Given the description of an element on the screen output the (x, y) to click on. 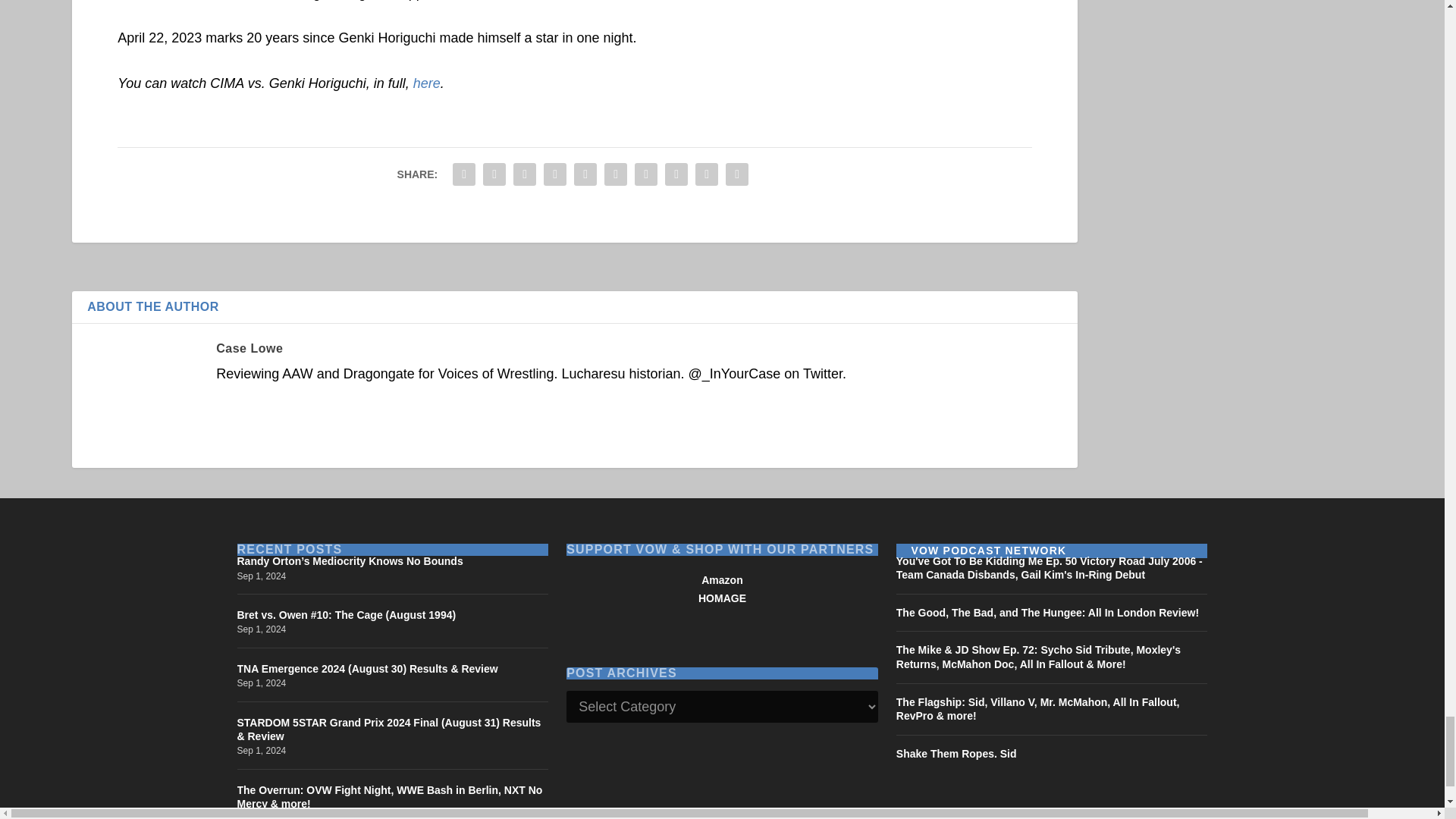
View all posts by Case Lowe (248, 348)
